Given the description of an element on the screen output the (x, y) to click on. 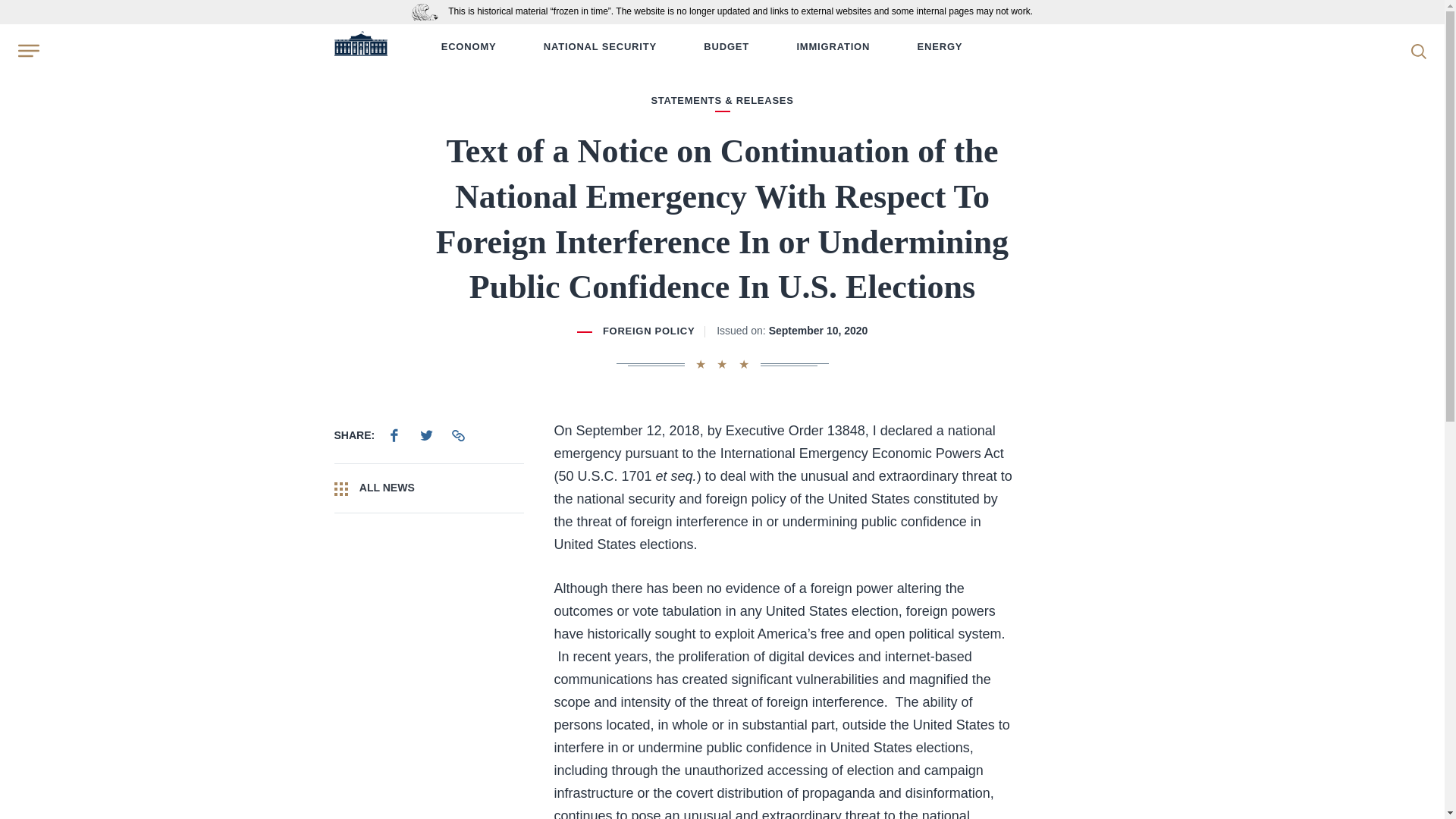
WhiteHouse.gov (360, 46)
BUDGET (726, 46)
IMMIGRATION (832, 46)
ALL NEWS (427, 488)
ENERGY (939, 46)
FOREIGN POLICY (648, 330)
ECONOMY (468, 46)
National Archives (428, 10)
NATIONAL SECURITY (599, 46)
